Given the description of an element on the screen output the (x, y) to click on. 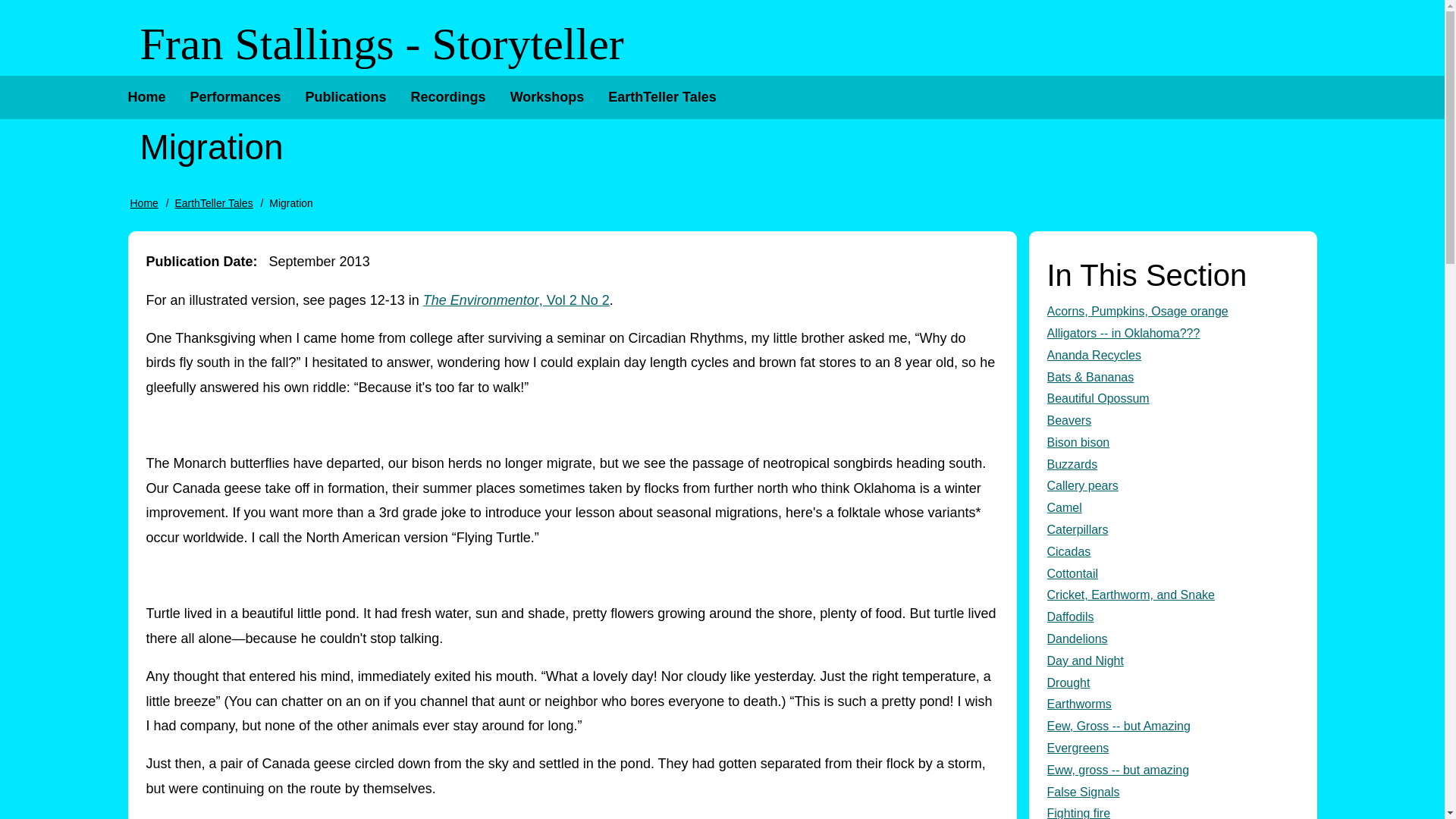
Performances (235, 96)
Cottontail (1172, 574)
EarthTeller Tales (661, 96)
Bison bison (1172, 443)
False Signals (1172, 792)
Acorns, Pumpkins, Osage orange (1172, 311)
Beautiful Opossum (1172, 399)
Cicadas (1172, 552)
Workshops (546, 96)
Evergreens (1172, 748)
Camel (1172, 508)
Publications (346, 96)
EarthTeller Tales (212, 203)
Home (146, 96)
Day and Night (1172, 661)
